Given the description of an element on the screen output the (x, y) to click on. 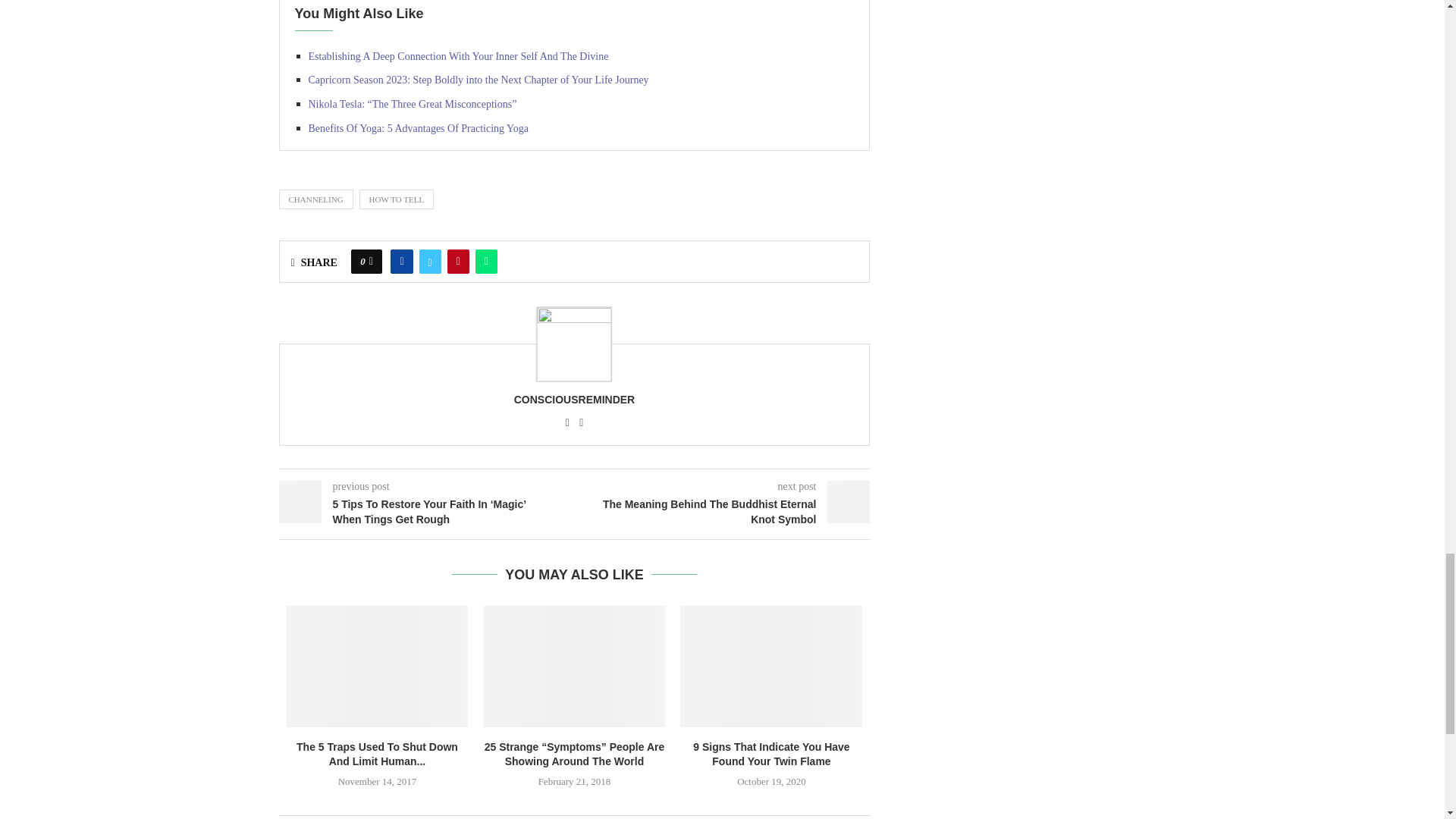
Author consciousreminder (573, 399)
The 5 Traps Used To Shut Down And Limit Human Consciousness (377, 666)
9 Signs That Indicate You Have Found Your Twin Flame (770, 666)
